Given the description of an element on the screen output the (x, y) to click on. 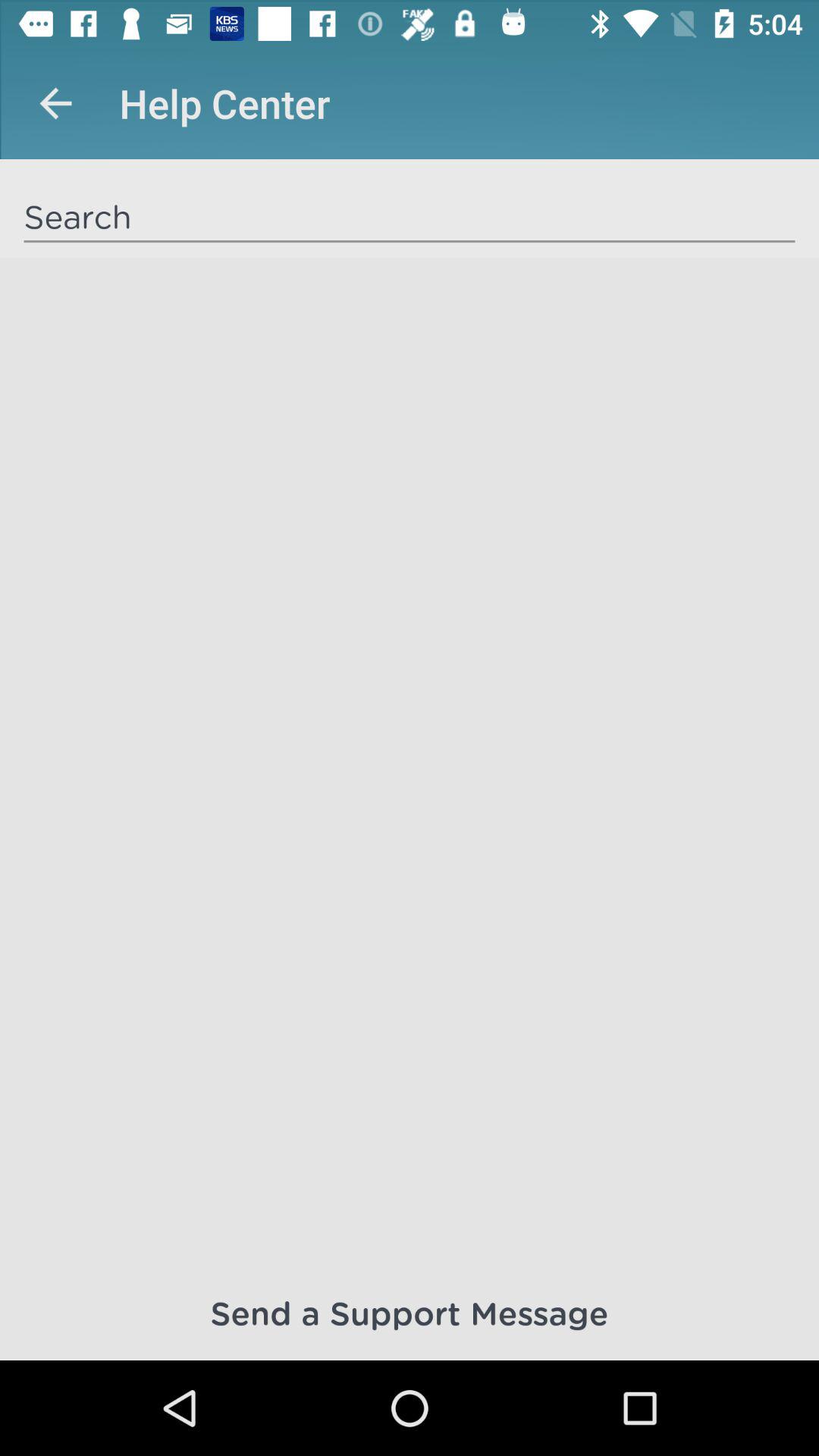
flip until the send a support (409, 1312)
